Given the description of an element on the screen output the (x, y) to click on. 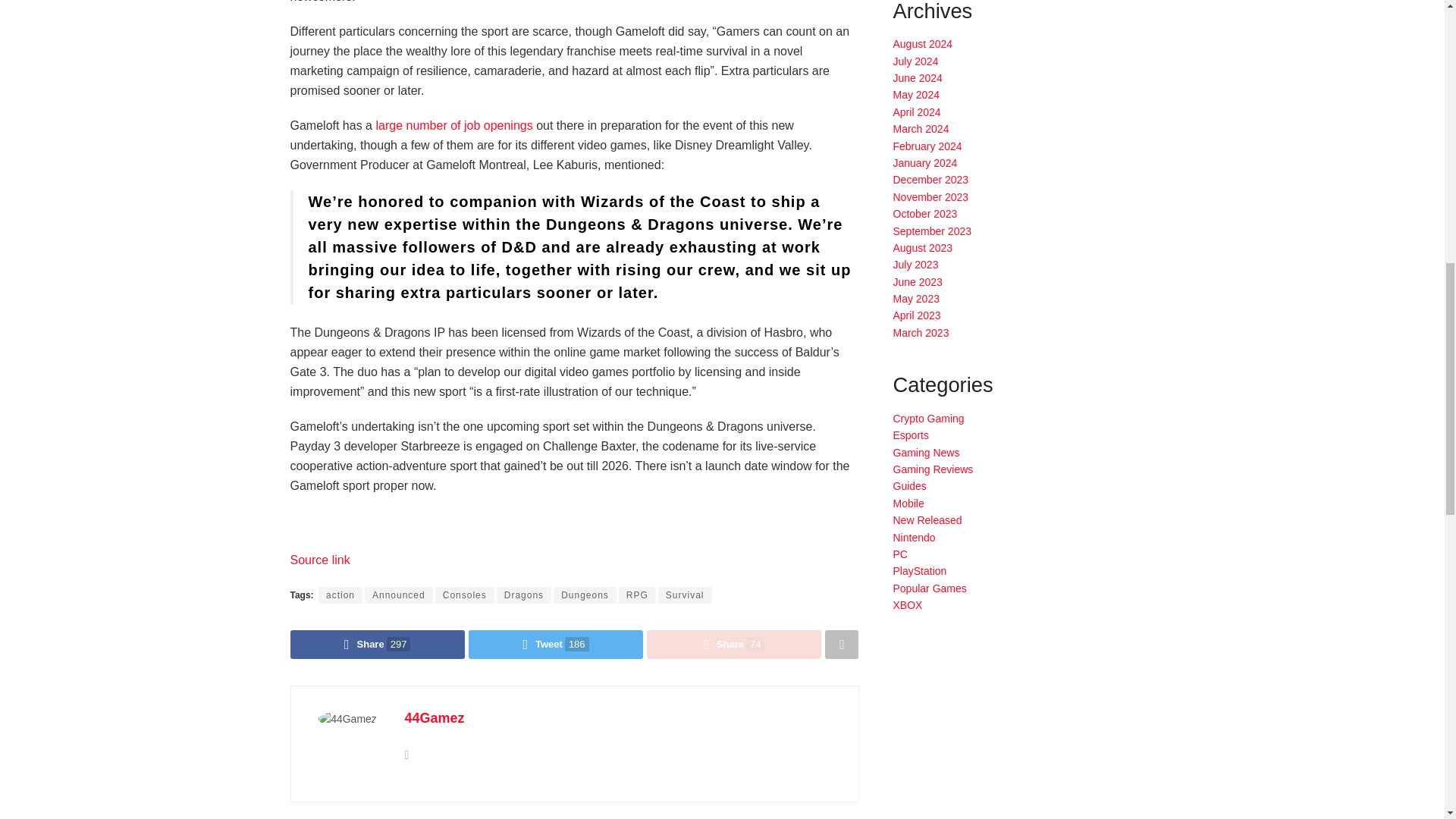
Announced (398, 595)
Source link (319, 559)
Consoles (465, 595)
action (340, 595)
large number of job openings (453, 124)
